Given the description of an element on the screen output the (x, y) to click on. 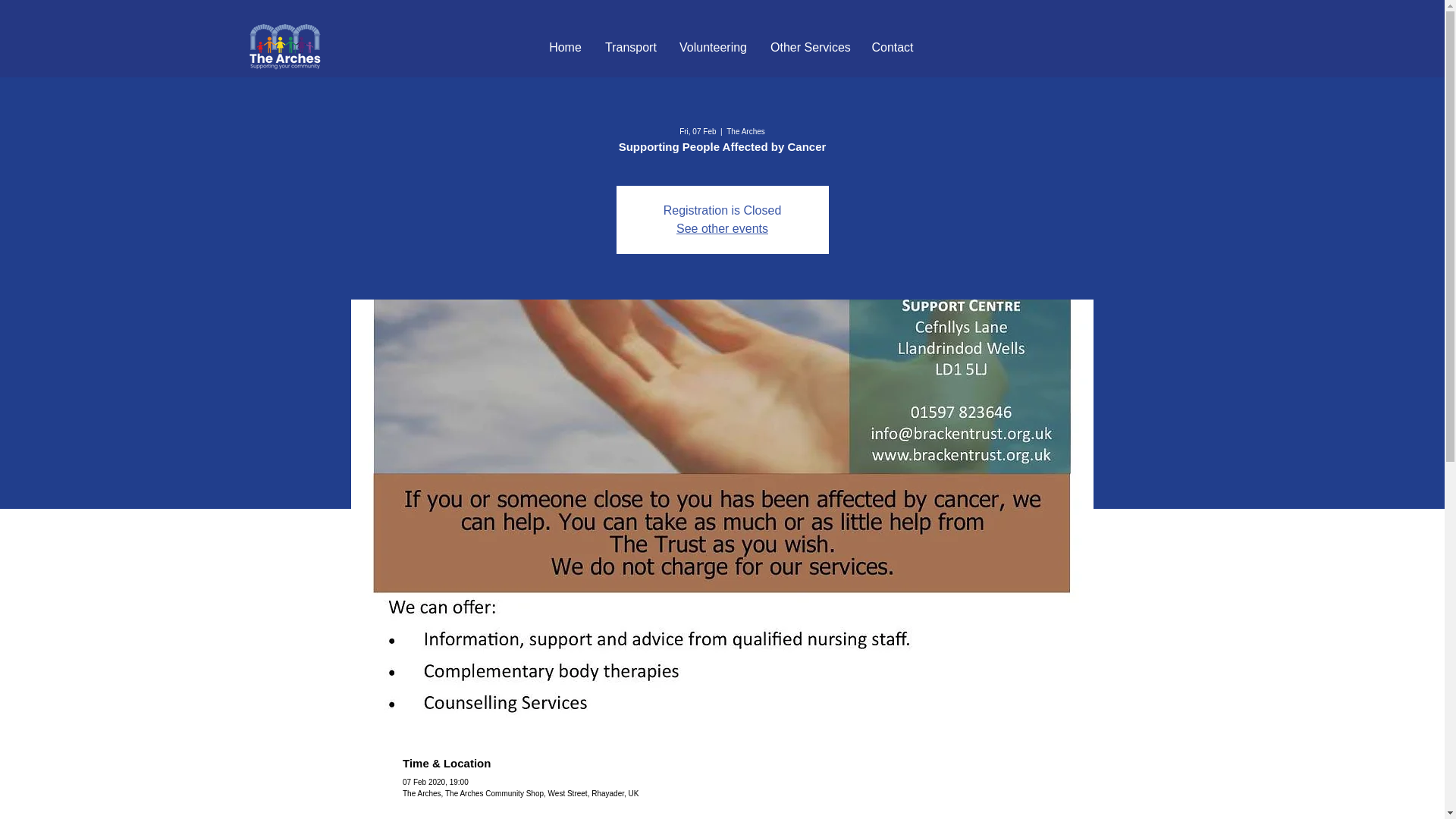
Other Services (809, 47)
Volunteering (712, 47)
The Arches Logo white text.png (284, 47)
Contact (892, 47)
See other events (722, 228)
Transport (630, 47)
Home (565, 47)
